Given the description of an element on the screen output the (x, y) to click on. 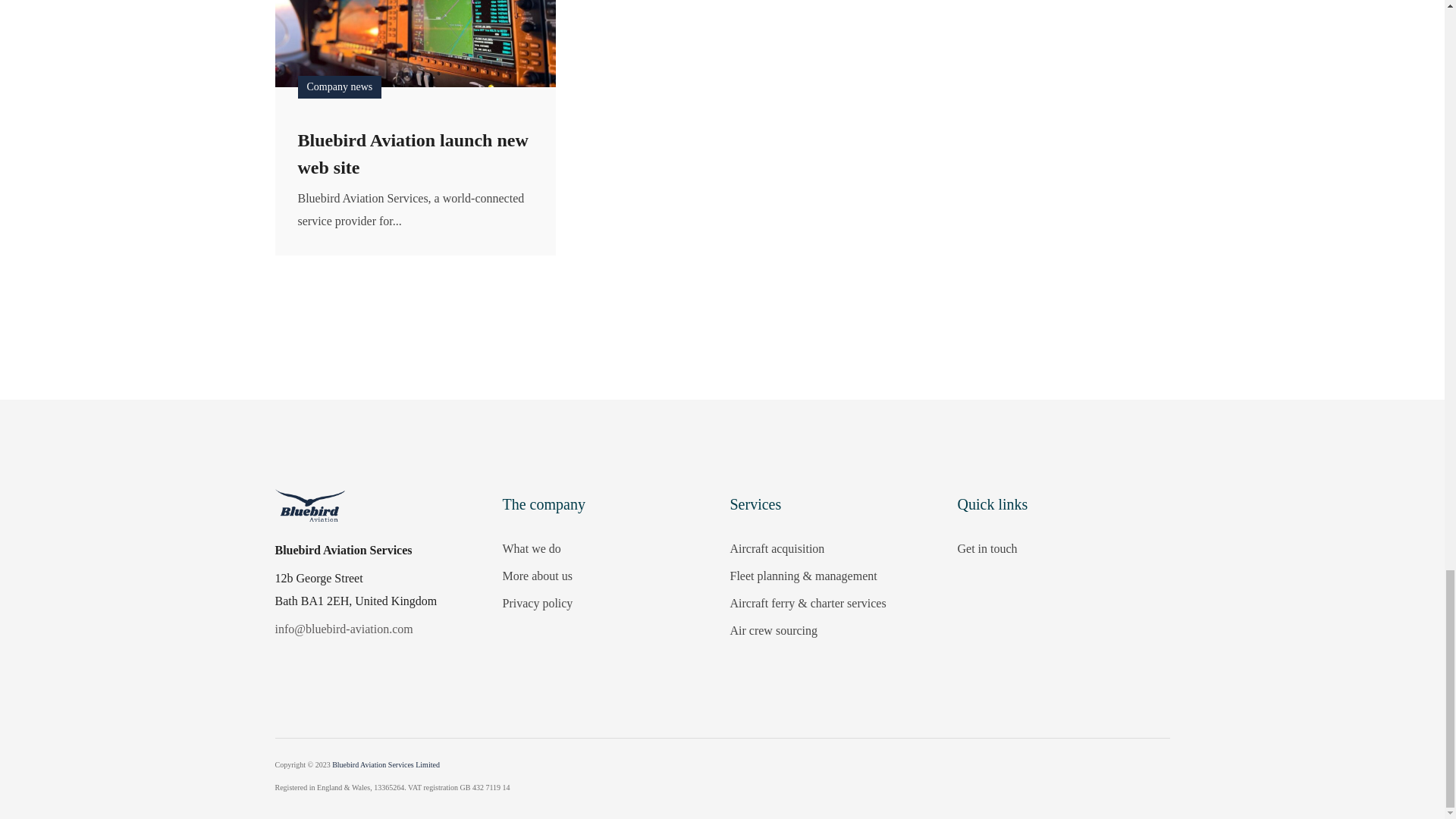
More about us (608, 576)
Aircraft acquisition (835, 548)
Privacy policy (608, 603)
What we do (608, 548)
Company news (339, 87)
Bluebird Aviation launch new web site (414, 153)
